Given the description of an element on the screen output the (x, y) to click on. 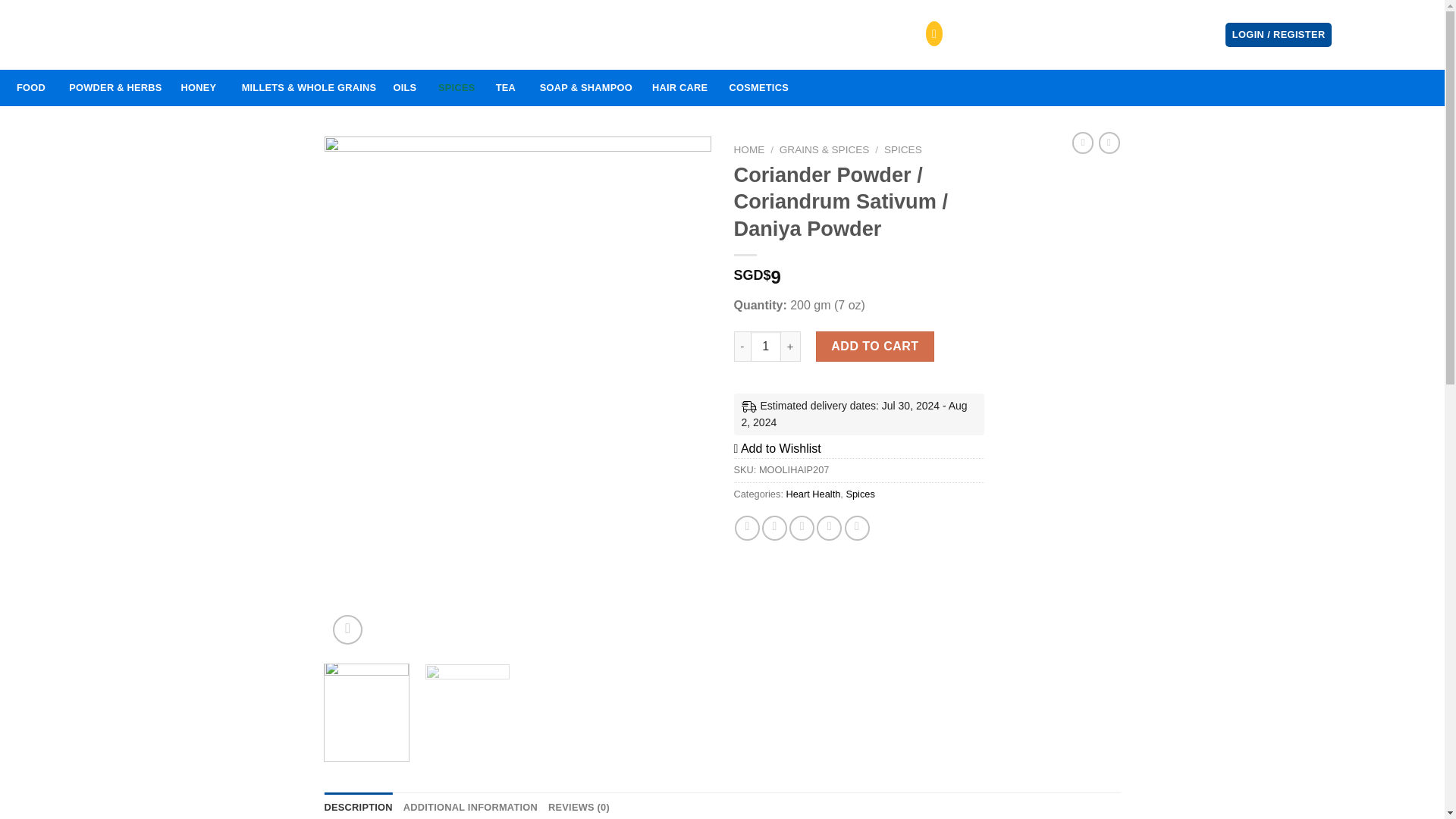
Pin on Pinterest (828, 527)
1 (765, 346)
Heart Health (813, 493)
COSMETICS (758, 87)
Track Order (338, 34)
HAIR CARE (680, 87)
Spices (860, 493)
SPICES (1180, 34)
OILS (902, 149)
SPICES (405, 87)
Share on LinkedIn (456, 87)
Share on Facebook (856, 527)
HONEY (747, 527)
FOOD (197, 87)
